Given the description of an element on the screen output the (x, y) to click on. 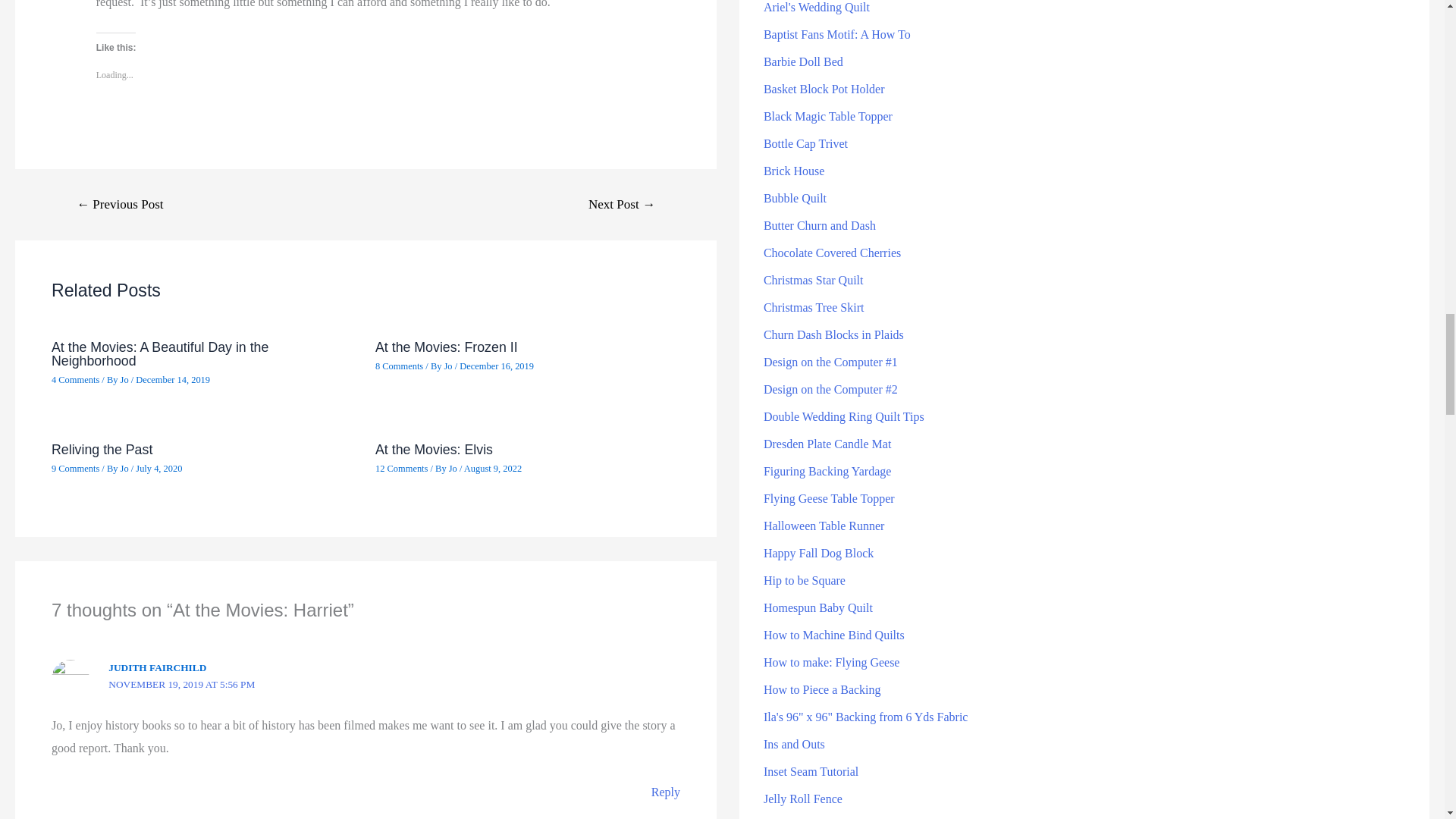
View all posts by Jo (125, 379)
View all posts by Jo (125, 468)
View all posts by Jo (449, 366)
View all posts by Jo (454, 468)
